Given the description of an element on the screen output the (x, y) to click on. 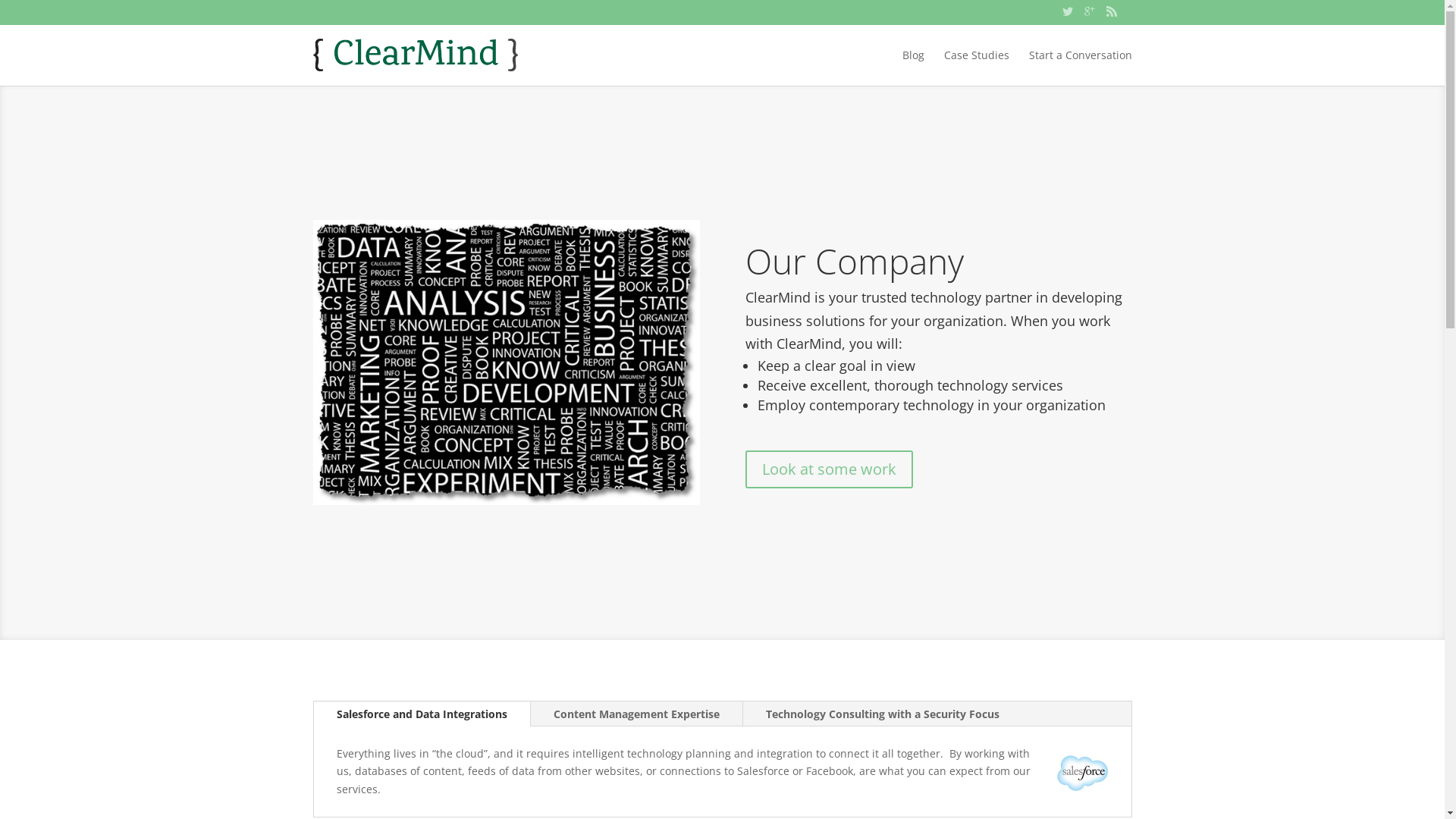
Start a Conversation Element type: text (1079, 65)
Our Company Element type: text (853, 260)
Look at some work Element type: text (828, 469)
Blog Element type: text (913, 65)
Case Studies Element type: text (975, 65)
Content Management Expertise Element type: text (636, 713)
Salesforce and Data Integrations Element type: text (421, 713)
Technology Consulting with a Security Focus Element type: text (882, 713)
